Given the description of an element on the screen output the (x, y) to click on. 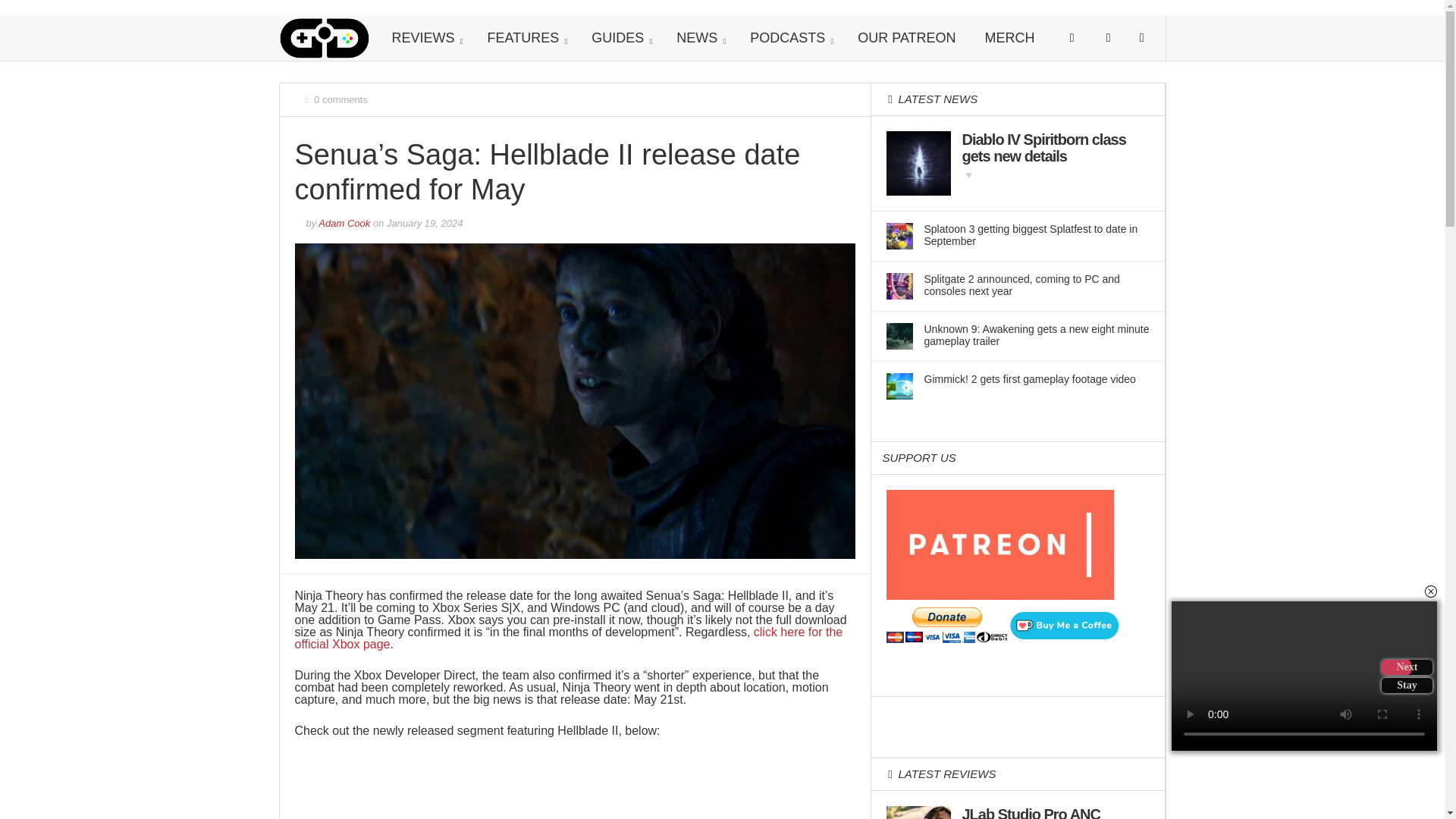
GUIDES (619, 37)
PODCASTS (789, 37)
NEWS (698, 37)
FEATURES (525, 37)
REVIEWS (425, 37)
